Given the description of an element on the screen output the (x, y) to click on. 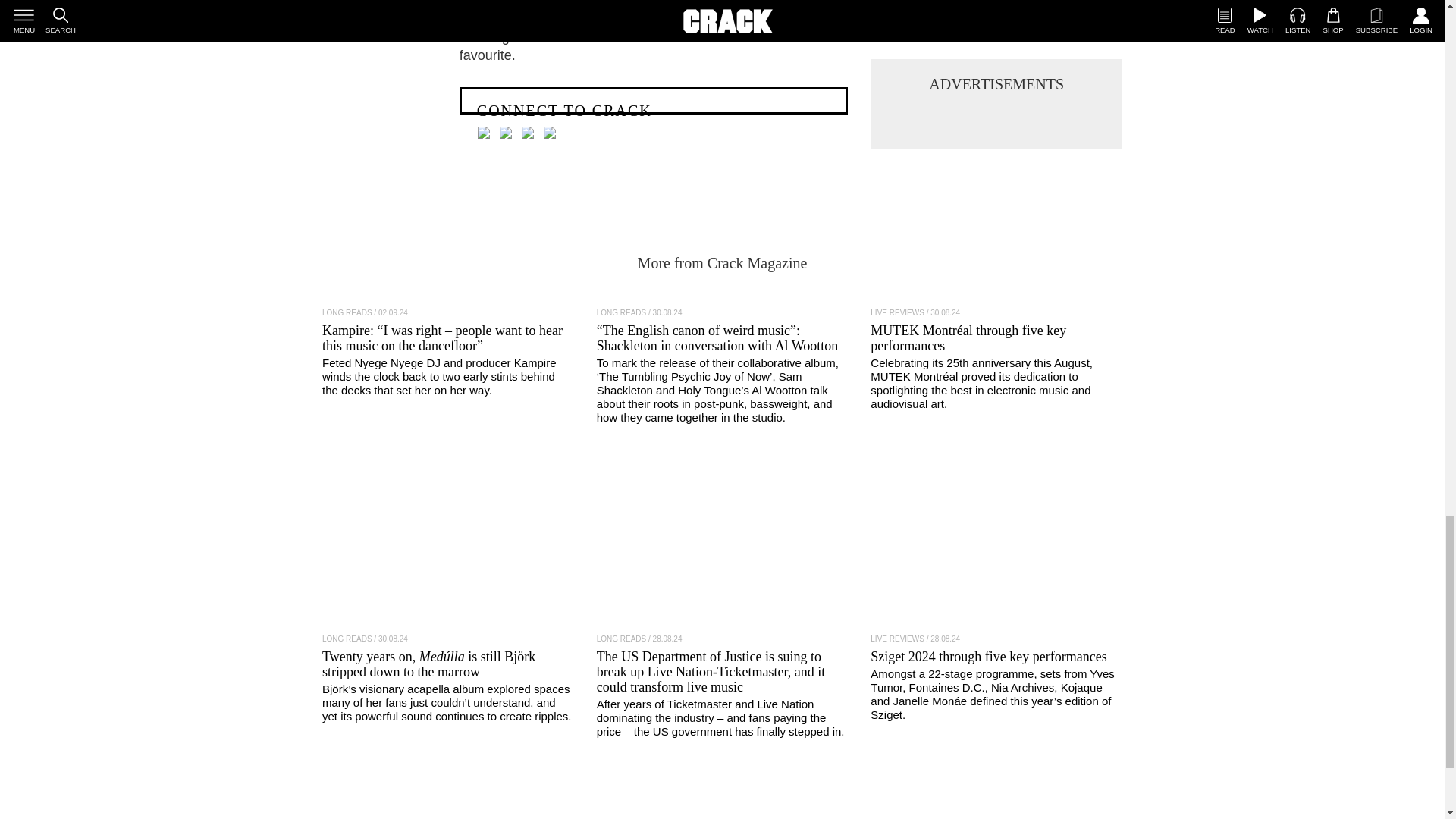
View all posts in Live Reviews (897, 638)
View all posts in Live Reviews (897, 312)
View all posts in Long Reads (346, 312)
View all posts in Long Reads (346, 638)
View all posts in Long Reads (621, 638)
View all posts in Long Reads (621, 312)
